Given the description of an element on the screen output the (x, y) to click on. 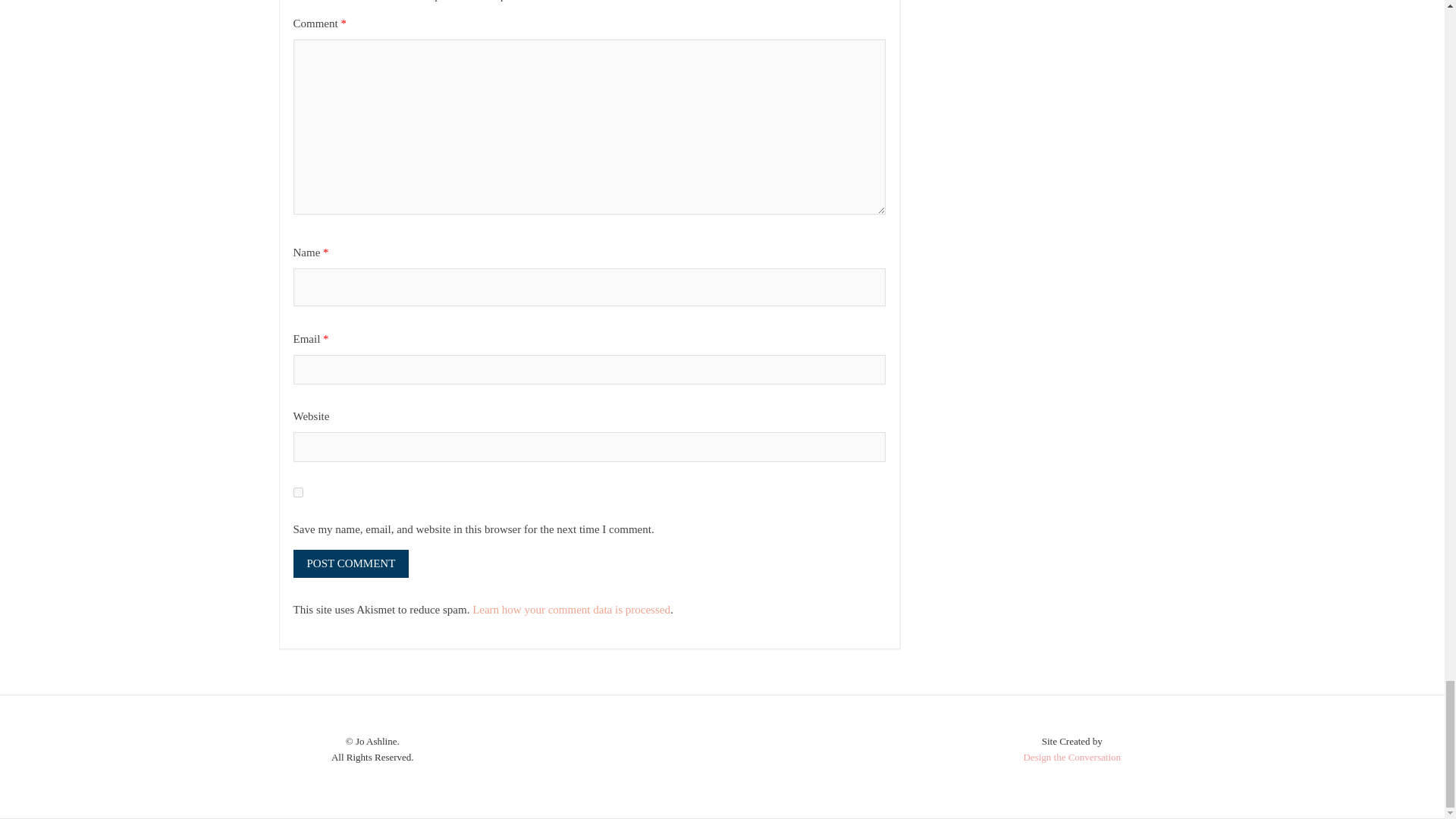
yes (297, 492)
Post Comment (350, 563)
